Given the description of an element on the screen output the (x, y) to click on. 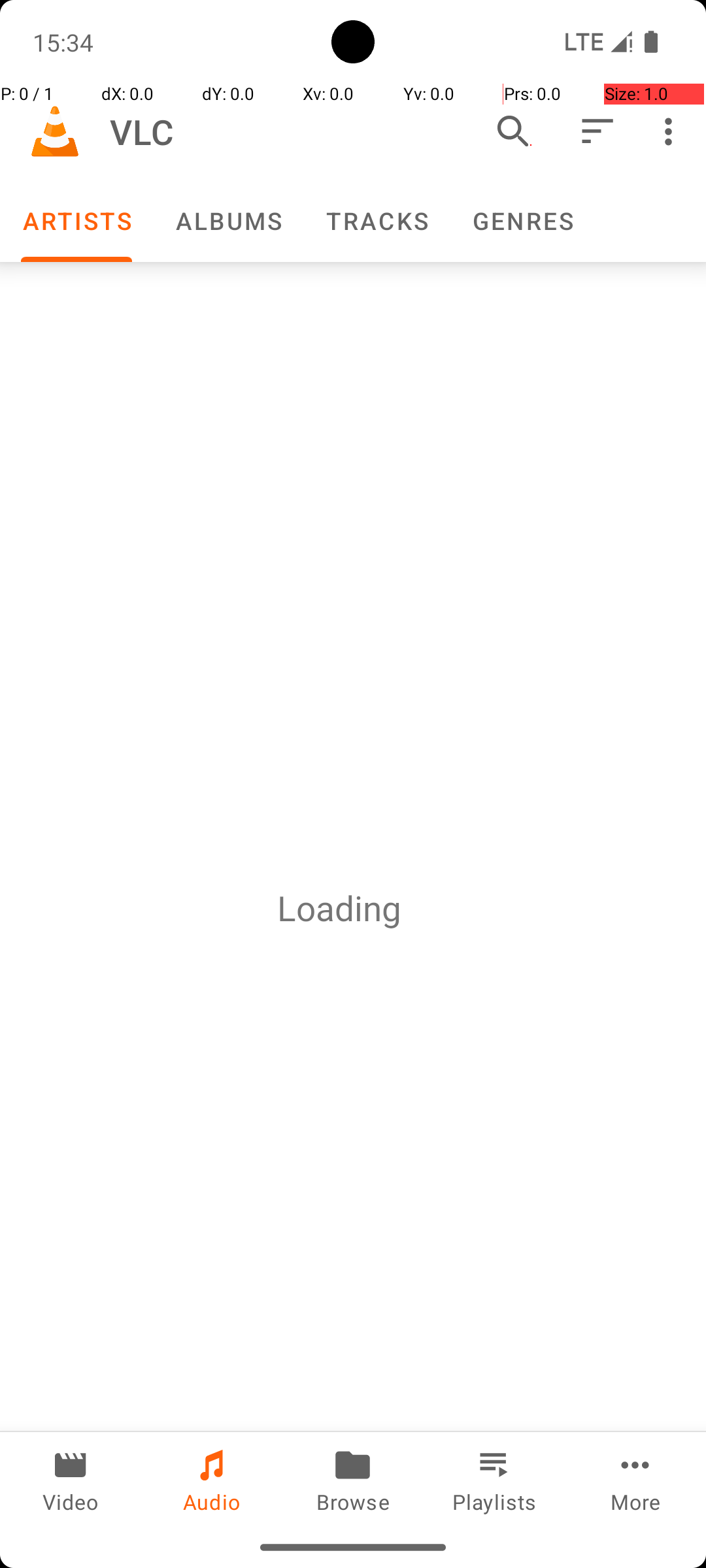
Loading Element type: android.widget.TextView (339, 907)
Tracks Element type: android.widget.LinearLayout (376, 220)
Genres Element type: android.widget.LinearLayout (521, 220)
ARTISTS Element type: android.widget.TextView (76, 220)
ALBUMS Element type: android.widget.TextView (227, 220)
TRACKS Element type: android.widget.TextView (376, 220)
GENRES Element type: android.widget.TextView (521, 220)
